Given the description of an element on the screen output the (x, y) to click on. 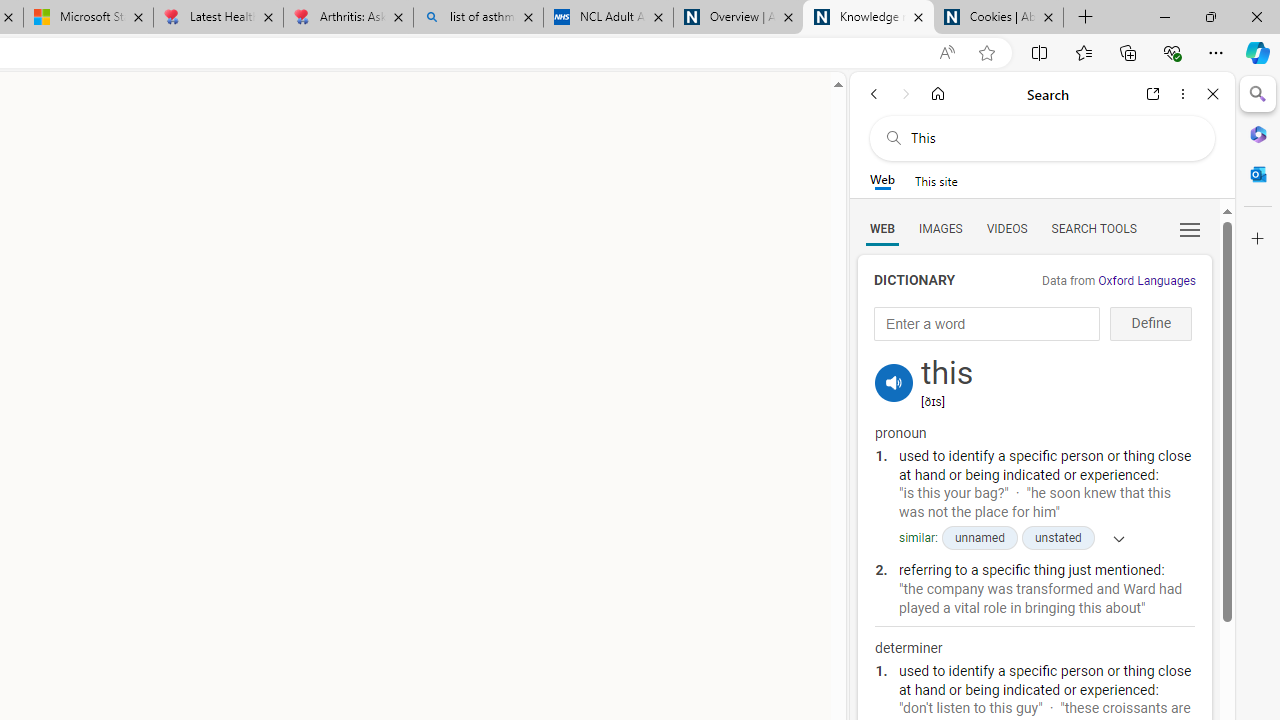
This site scope (936, 180)
pronounce (893, 382)
Search Filter, Search Tools (1093, 228)
Search Filter, IMAGES (939, 228)
Close Customize pane (1258, 239)
Oxford Languages (1146, 281)
Cookies | About | NICE (998, 17)
Microsoft 365 (1258, 133)
Define (1150, 323)
Enter a word (987, 323)
